Given the description of an element on the screen output the (x, y) to click on. 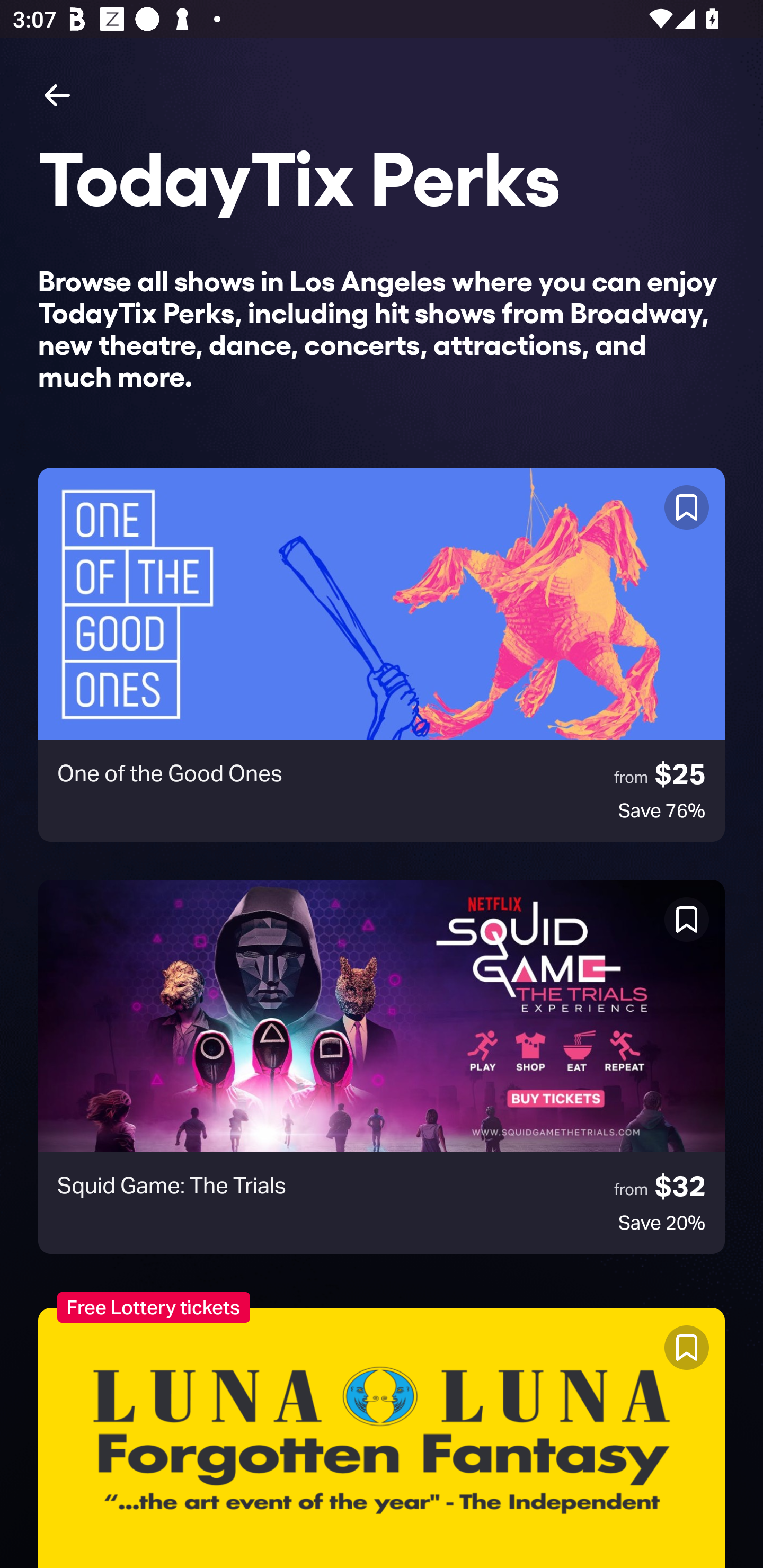
One of the Good Ones from $25 Save 76% (381, 654)
Squid Game: The Trials from $32 Save 20% (381, 1066)
